Given the description of an element on the screen output the (x, y) to click on. 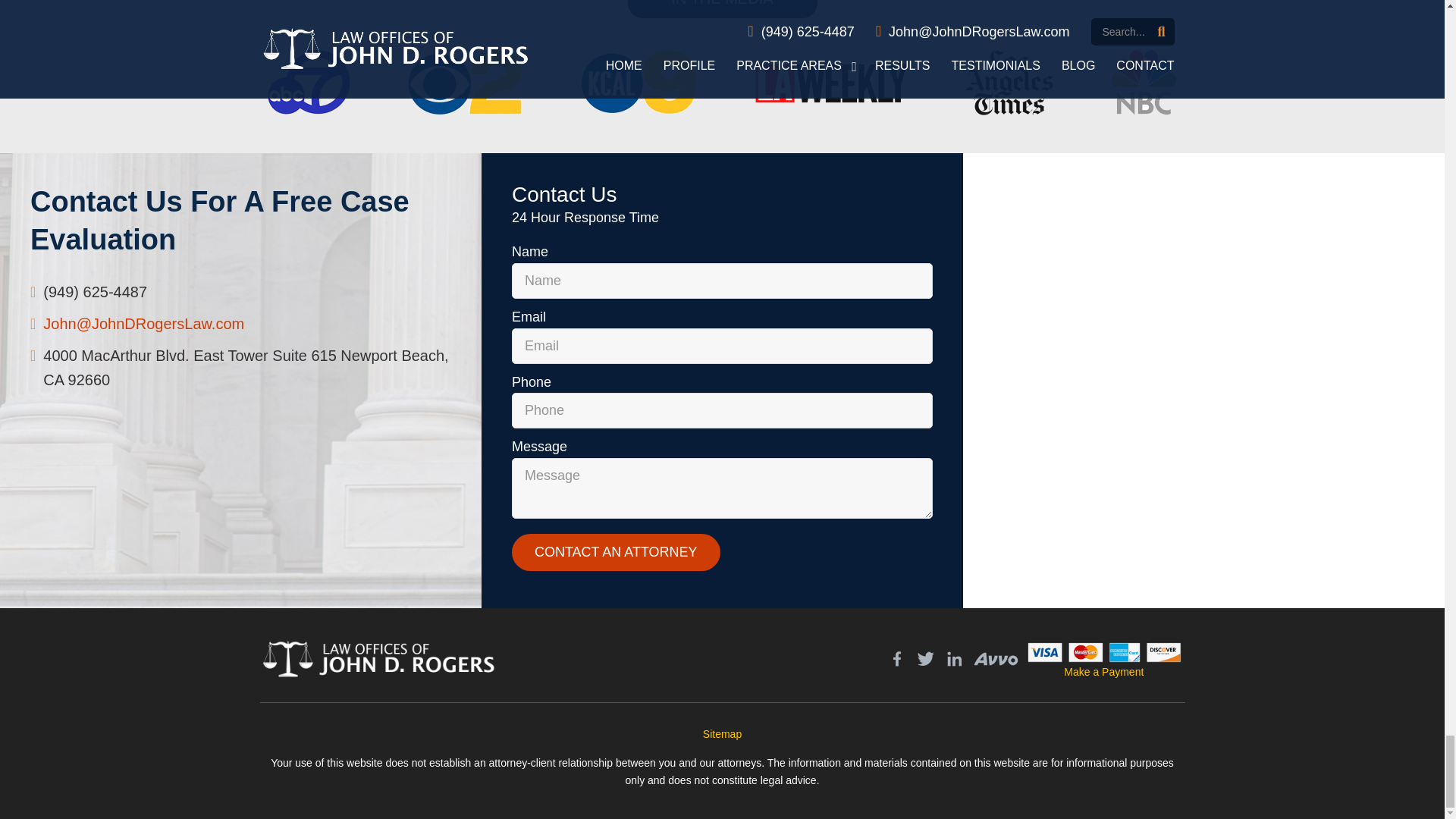
Contact an Attorney (616, 551)
